Given the description of an element on the screen output the (x, y) to click on. 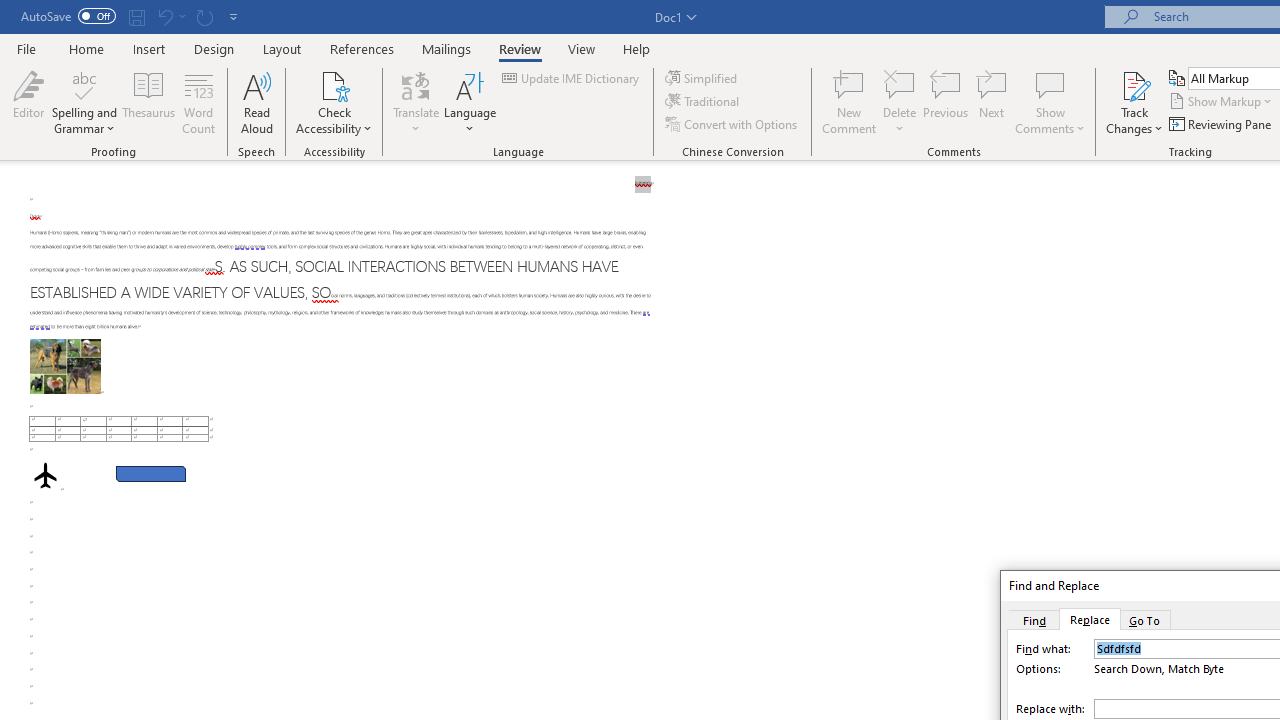
Show Comments (1050, 84)
Show Markup (1222, 101)
Translate (415, 102)
Morphological variation in six dogs (65, 366)
Next (991, 102)
Convert with Options... (732, 124)
Update IME Dictionary... (572, 78)
Check Accessibility (334, 84)
Go To (1145, 619)
Traditional (703, 101)
